Given the description of an element on the screen output the (x, y) to click on. 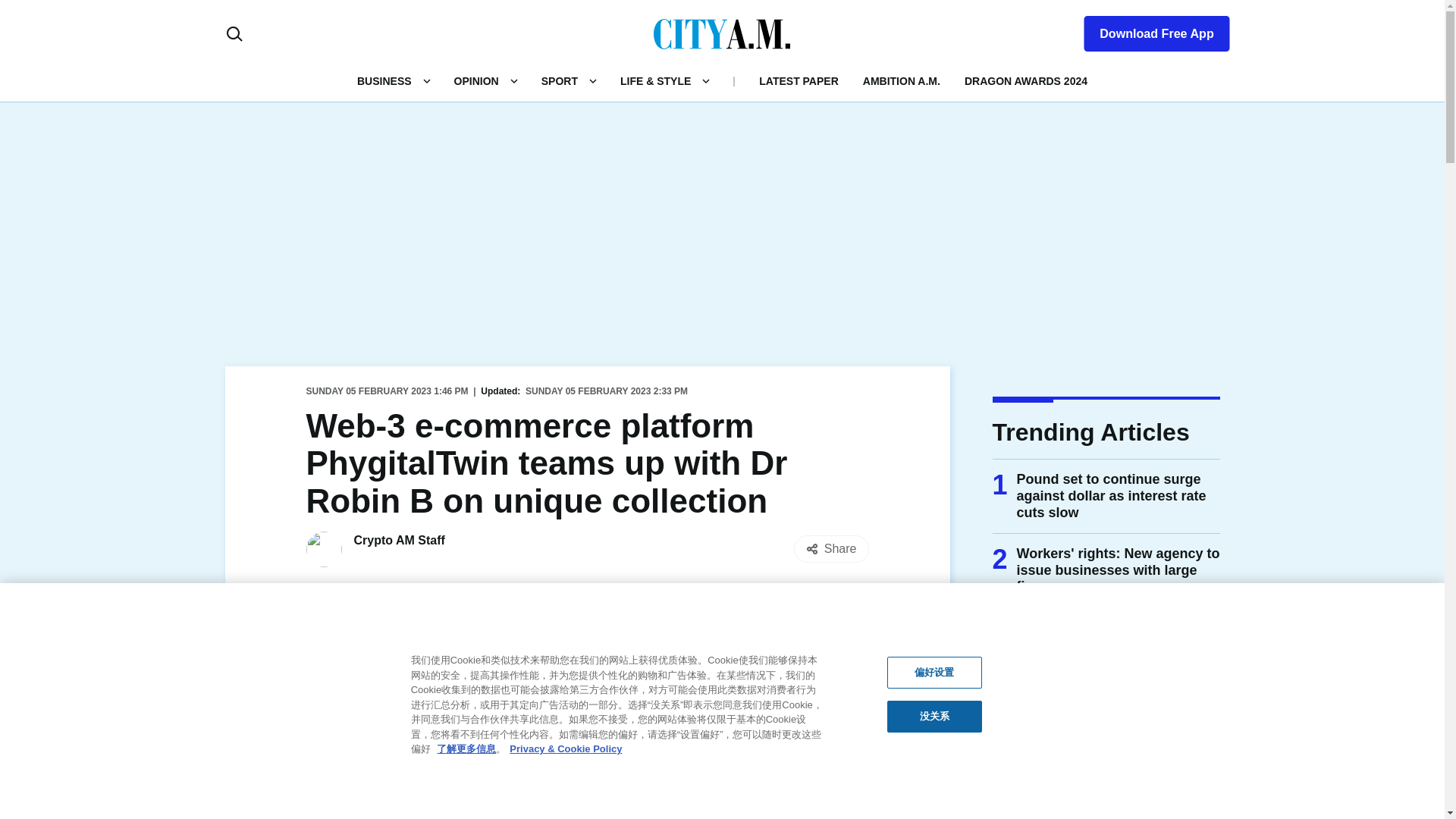
BUSINESS (384, 80)
SPORT (559, 80)
OPINION (476, 80)
CityAM (721, 33)
Download Free App (1146, 30)
